Given the description of an element on the screen output the (x, y) to click on. 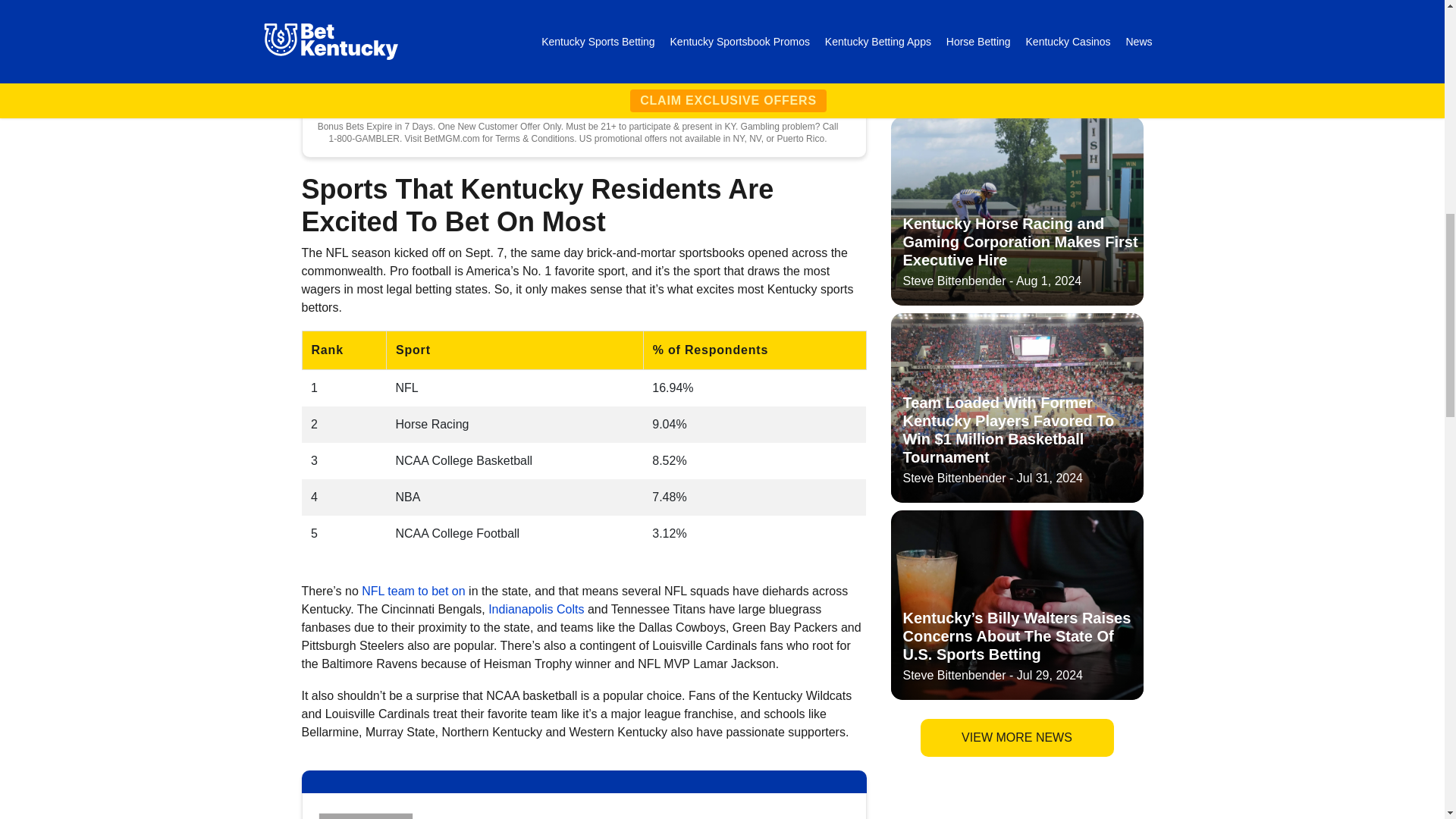
BetMGM Sports (367, 45)
DraftKings Sports (368, 813)
